Given the description of an element on the screen output the (x, y) to click on. 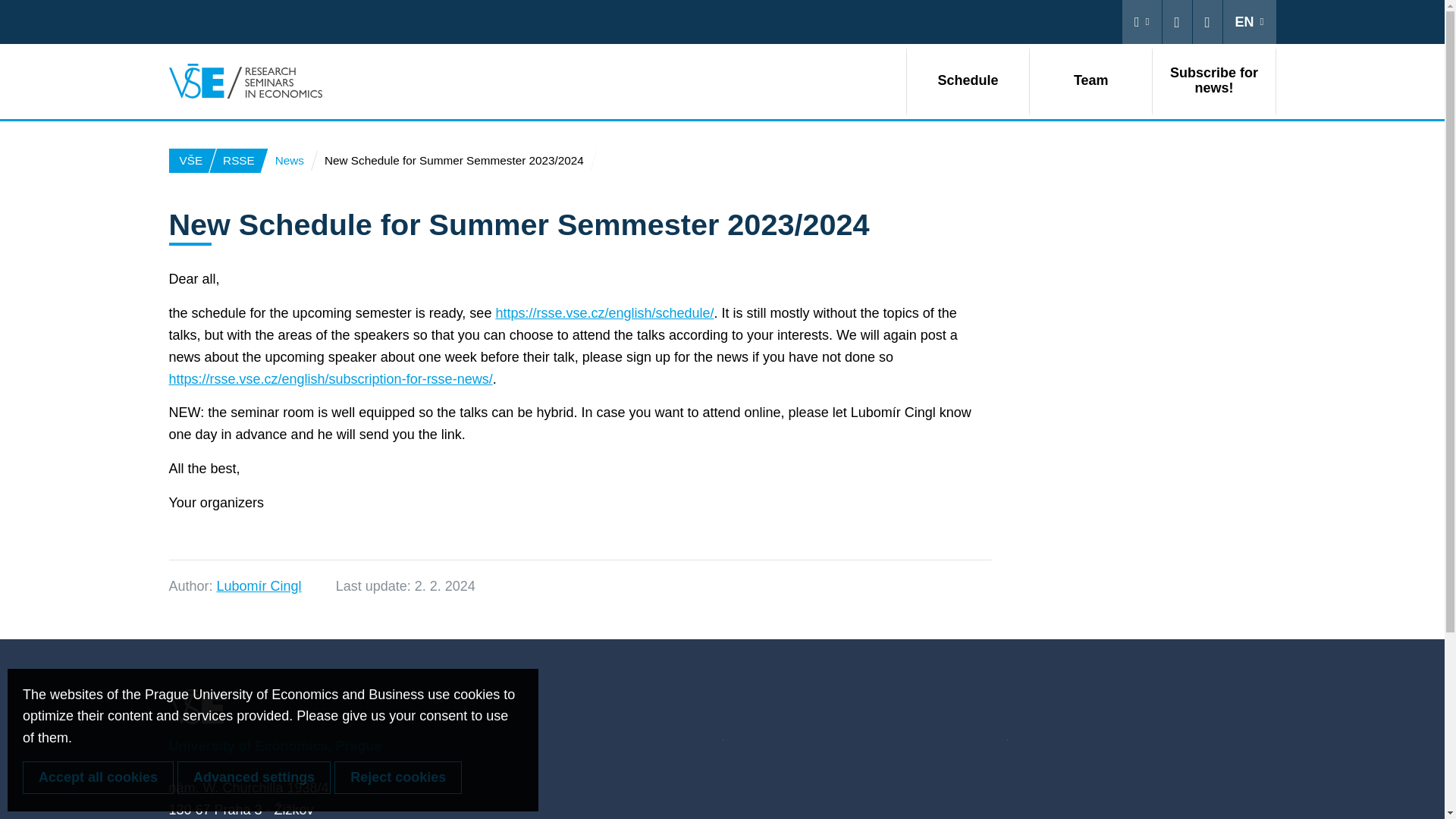
Schedule (968, 81)
Prague University of Economics and Business (191, 160)
Links for the current user (1141, 22)
Language selection (1249, 22)
RSSE (237, 160)
EN (1249, 22)
Research Seminars in Economics (237, 160)
Subscribe for news! (1214, 81)
Team (1090, 81)
Accept all cookies (98, 777)
News (288, 160)
Advanced settings (253, 777)
User (1141, 22)
